Given the description of an element on the screen output the (x, y) to click on. 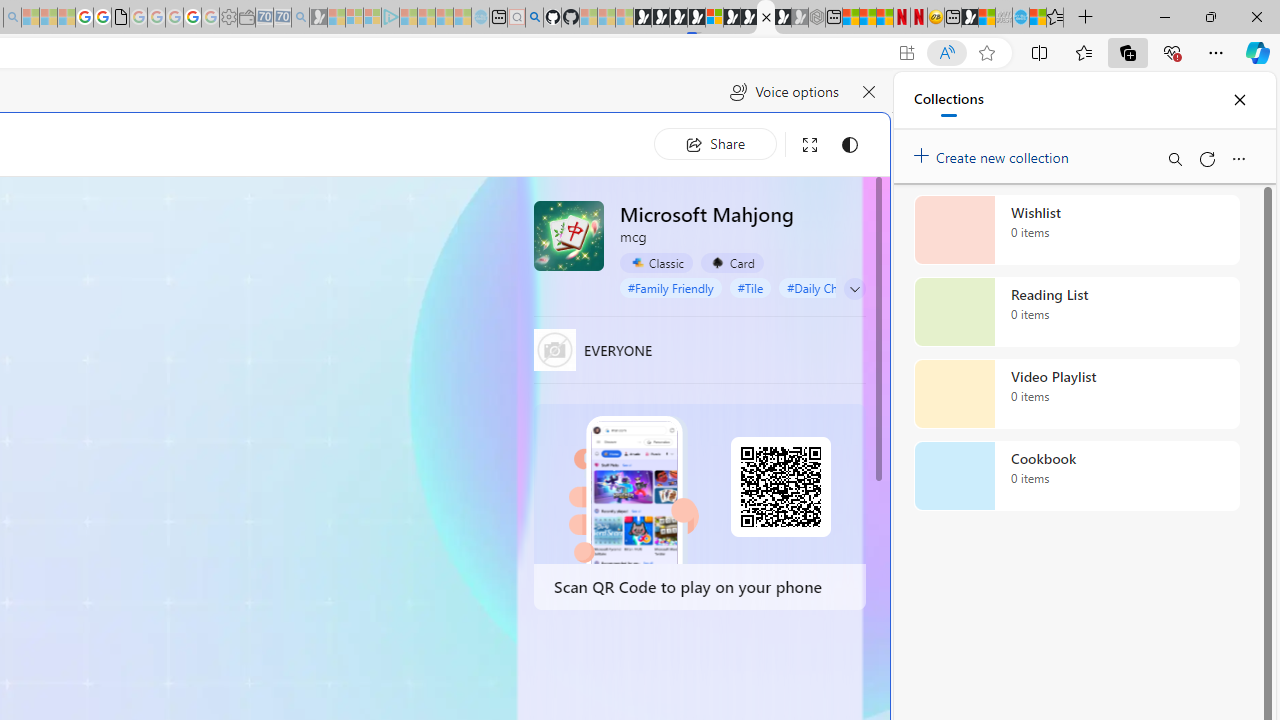
Play Cave FRVR in your browser | Games from Microsoft Start (678, 17)
Collections (948, 99)
Class: control (855, 289)
Card (732, 263)
Home | Sky Blue Bikes - Sky Blue Bikes (687, 426)
Microsoft Mahjong (568, 235)
Restore (1210, 16)
EVERYONE (554, 349)
